Given the description of an element on the screen output the (x, y) to click on. 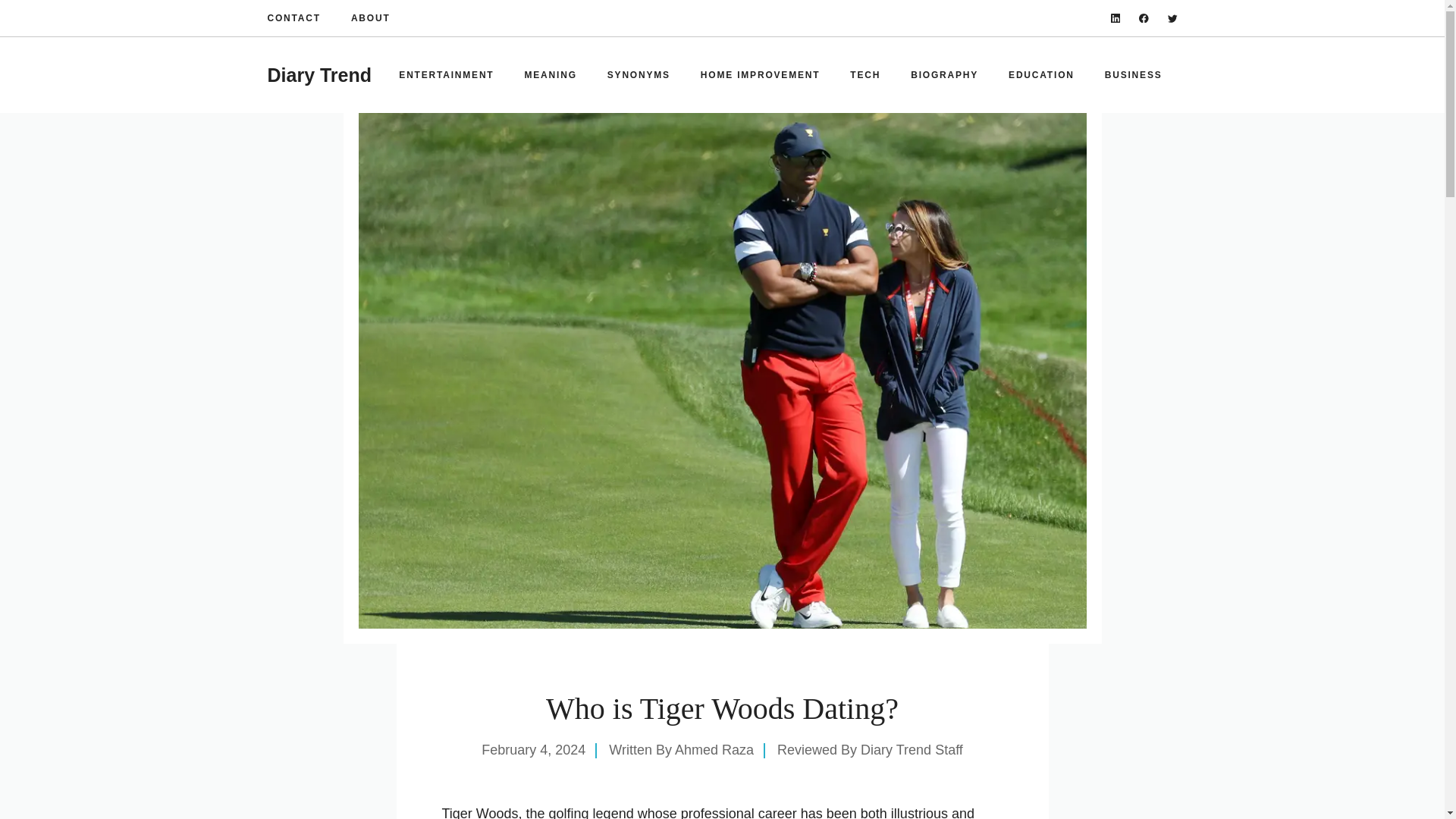
TECH (864, 74)
CONTACT (293, 18)
HOME IMPROVEMENT (759, 74)
ABOUT (370, 18)
EDUCATION (1040, 74)
Diary Trend (318, 74)
MEANING (550, 74)
BUSINESS (1133, 74)
ENTERTAINMENT (446, 74)
SYNONYMS (638, 74)
